Given the description of an element on the screen output the (x, y) to click on. 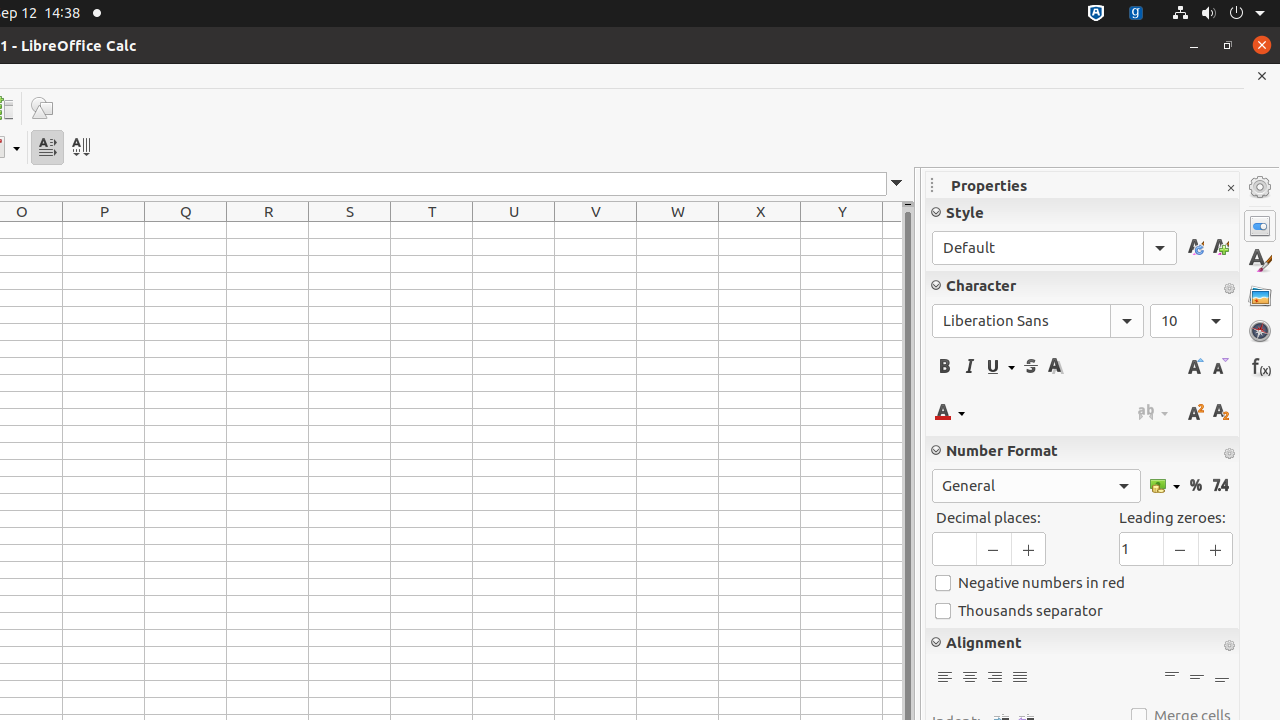
Negative numbers in red Element type: check-box (1082, 583)
Functions Element type: radio-button (1260, 366)
Z1 Element type: table-cell (892, 230)
X1 Element type: table-cell (760, 230)
Thousands separator Element type: check-box (1082, 611)
